Given the description of an element on the screen output the (x, y) to click on. 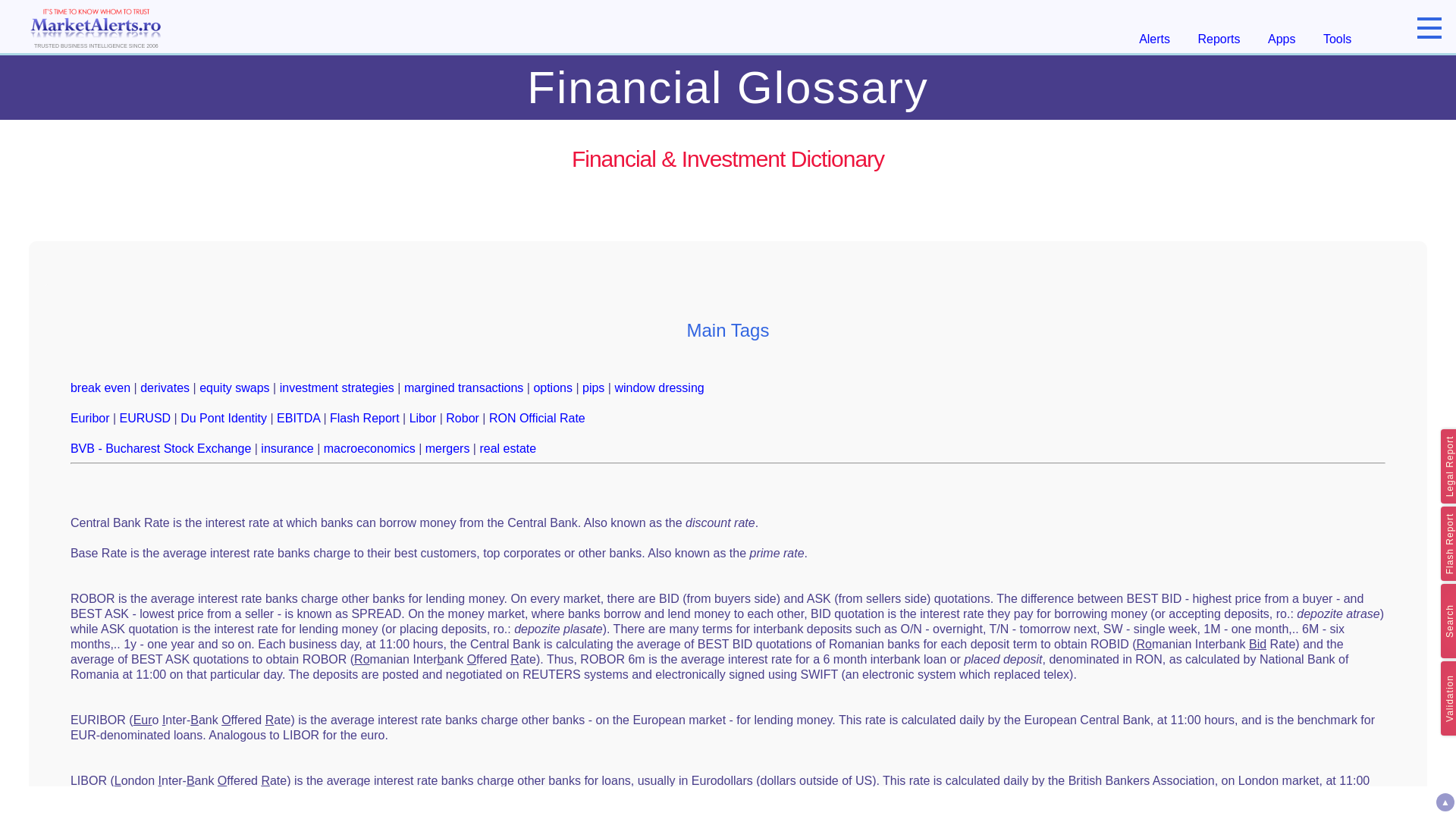
Du Pont Identity (223, 418)
Reports (1219, 38)
margined transactions (463, 387)
investment strategies (336, 387)
real estate (507, 448)
TRUSTED BUSINESS INTELLIGENCE SINCE 2006 (96, 26)
Tools (1337, 38)
Alerts (1154, 38)
BVB - Bucharest Stock Exchange (159, 448)
equity swaps (234, 387)
RON Official Rate (537, 418)
Robor (462, 418)
window dressing (658, 387)
break even (100, 387)
Apps (1281, 38)
